Given the description of an element on the screen output the (x, y) to click on. 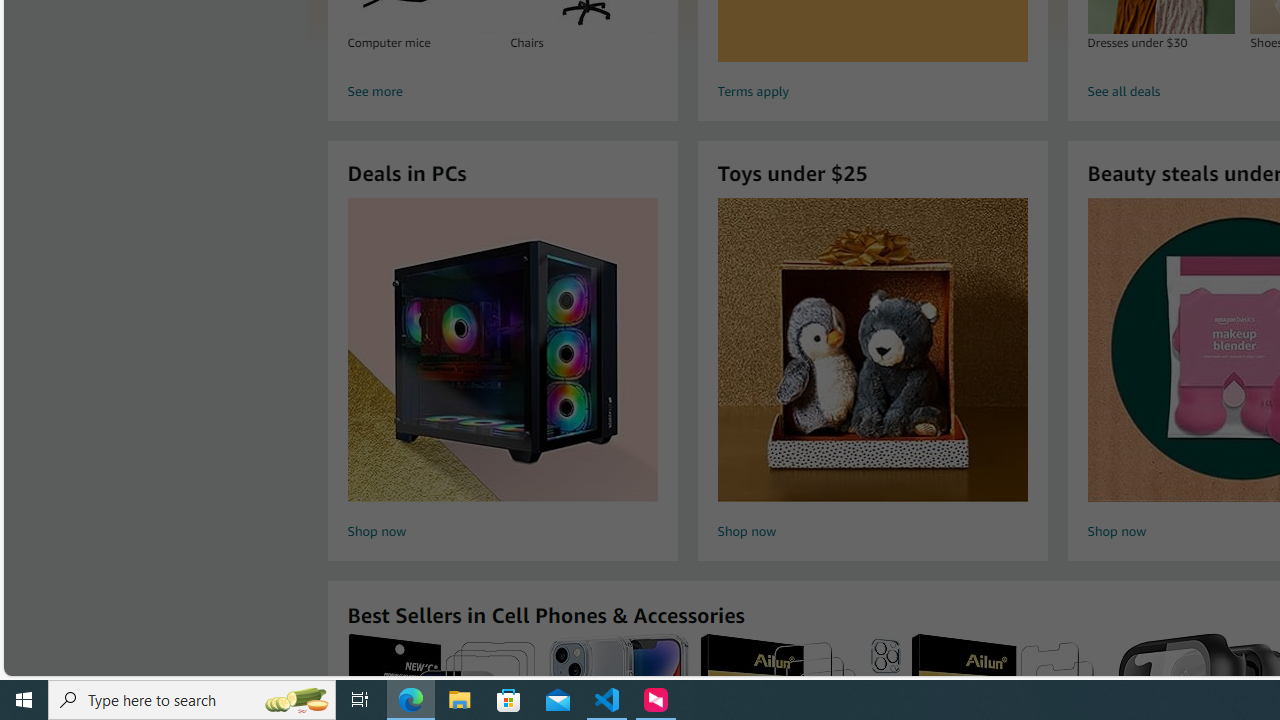
Toys under $25 (872, 349)
Deals in PCs Shop now (502, 371)
Toys under $25 Shop now (872, 371)
Deals in PCs (502, 349)
